Given the description of an element on the screen output the (x, y) to click on. 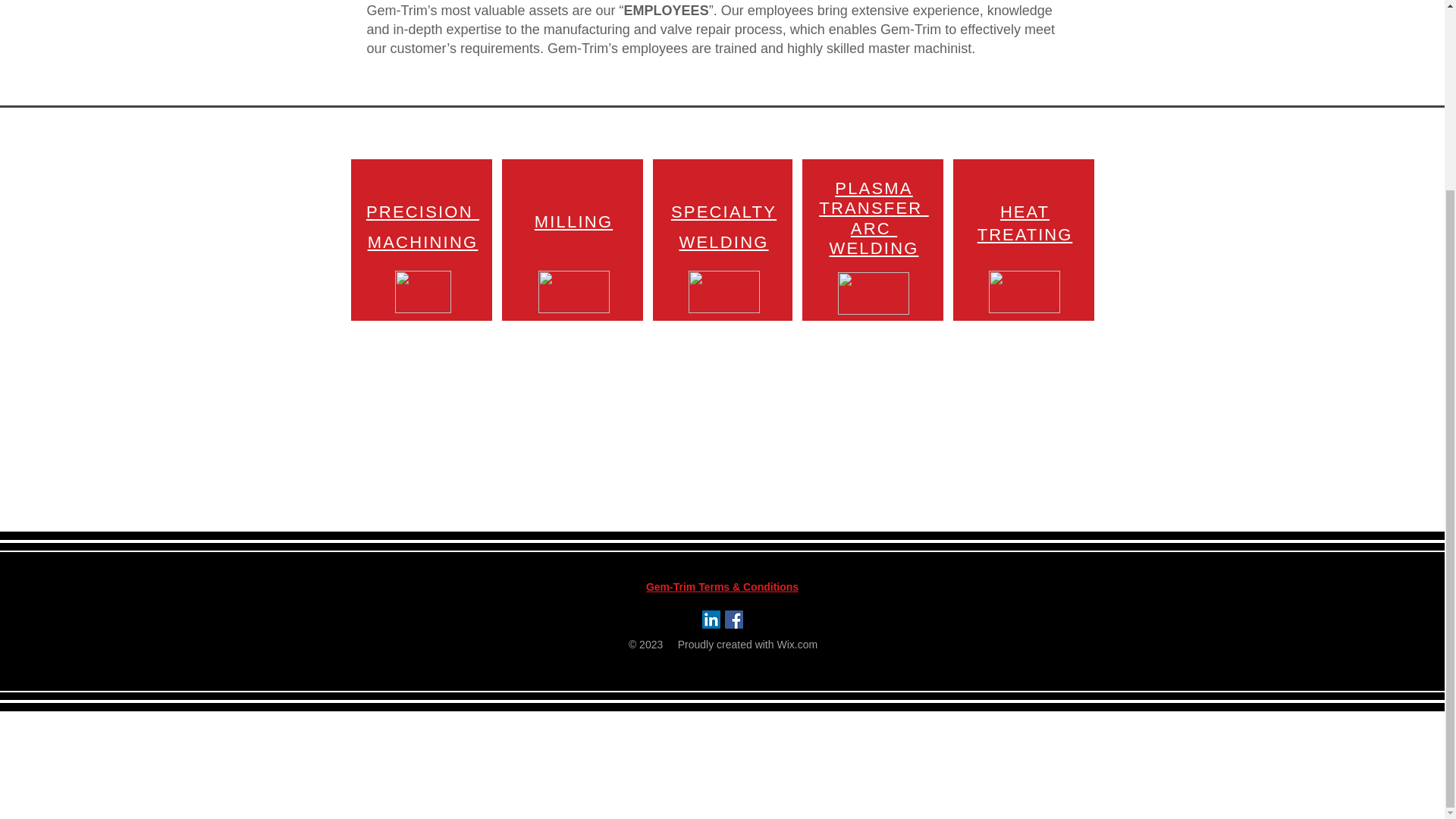
SPECIALTY (723, 211)
TREATING (1024, 234)
PLASMA (873, 188)
WELDING (723, 241)
MACHINING (423, 241)
Wix.com (796, 644)
MILLING (573, 221)
WELDING (873, 248)
ARC  (873, 228)
PRECISION  (422, 211)
